Given the description of an element on the screen output the (x, y) to click on. 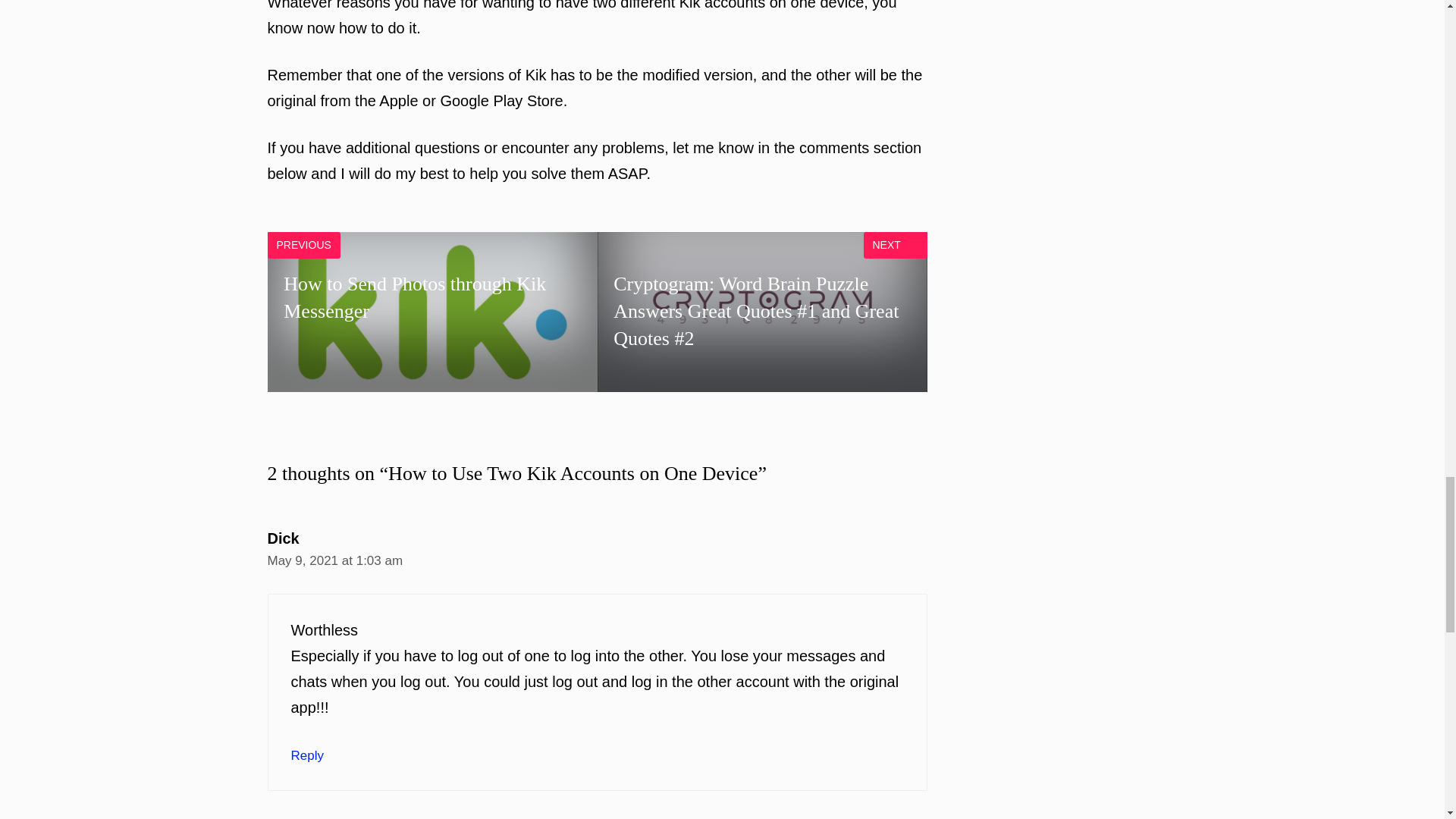
Reply (307, 755)
May 9, 2021 at 1:03 am (431, 311)
